Given the description of an element on the screen output the (x, y) to click on. 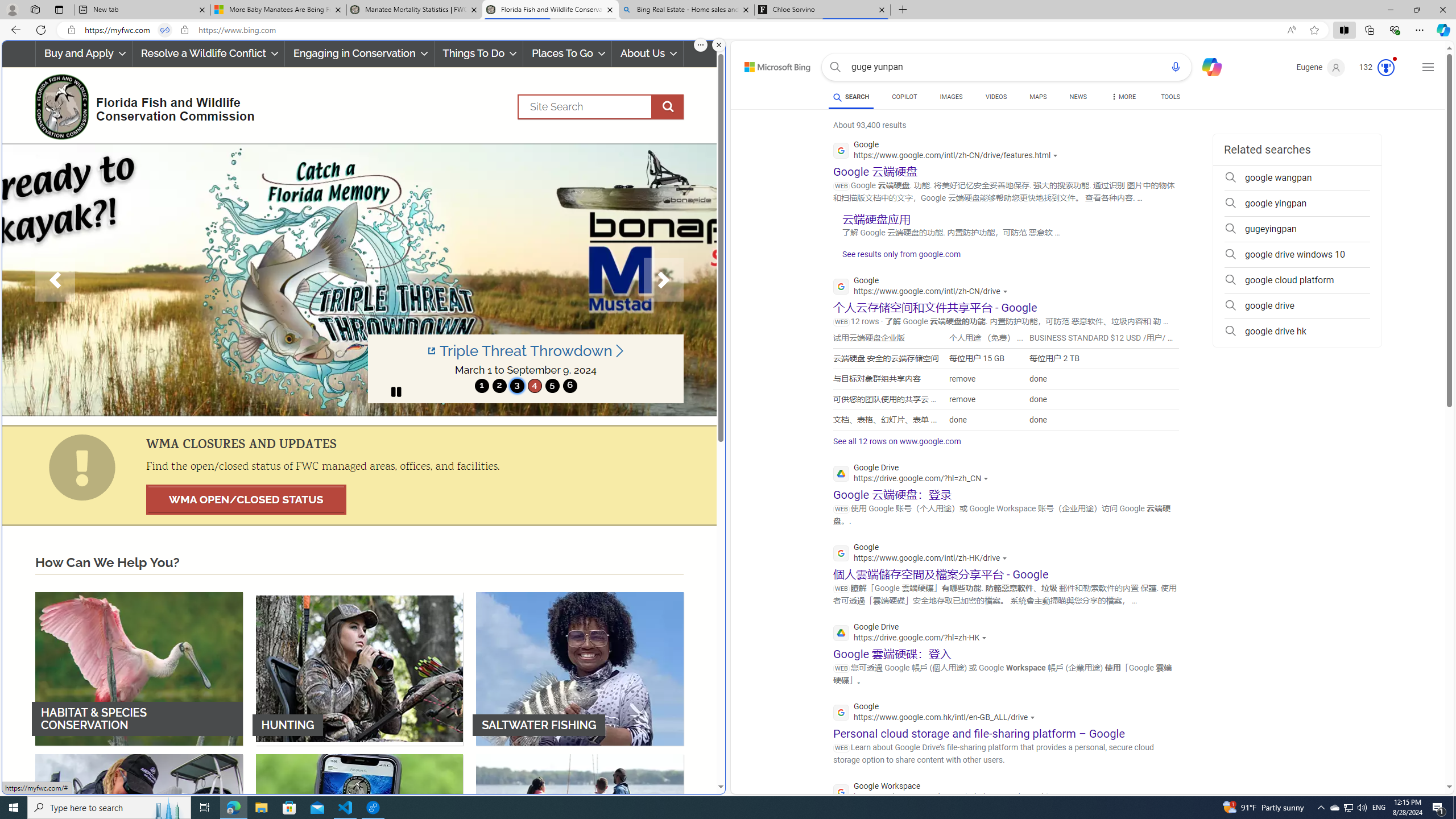
Refresh (40, 29)
VIDEOS (995, 96)
Collections (1369, 29)
execute site search (667, 106)
WMA OPEN/CLOSED STATUS (245, 499)
Skip to content (764, 63)
Address and search bar (680, 29)
Settings and quick links (1428, 67)
HUNTING (358, 668)
Settings and more (Alt+F) (1419, 29)
Minimize (1390, 9)
